Given the description of an element on the screen output the (x, y) to click on. 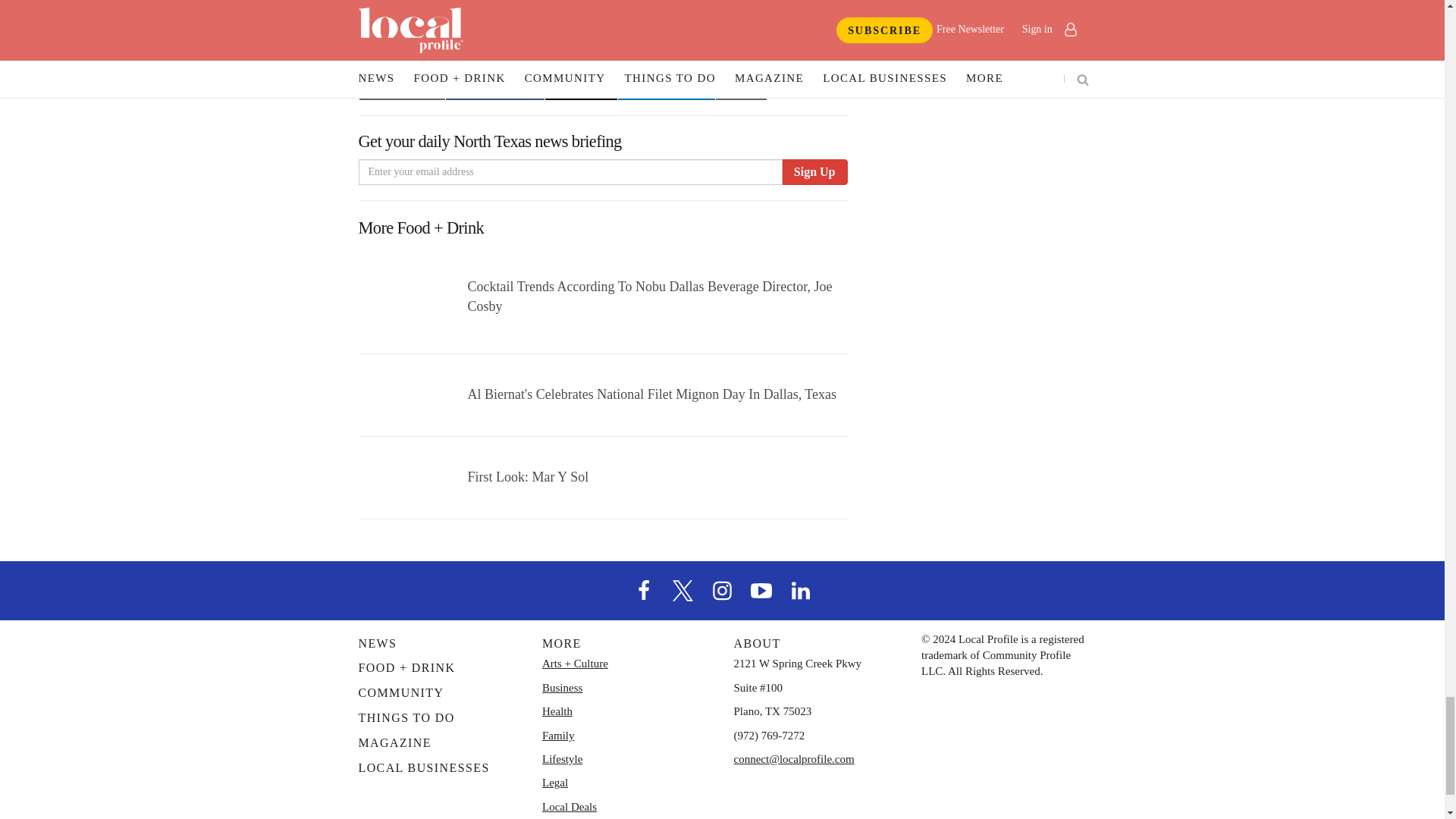
Facebook (644, 558)
X (683, 558)
YouTube (760, 558)
Instagram (721, 558)
LinkedIn (800, 558)
